Given the description of an element on the screen output the (x, y) to click on. 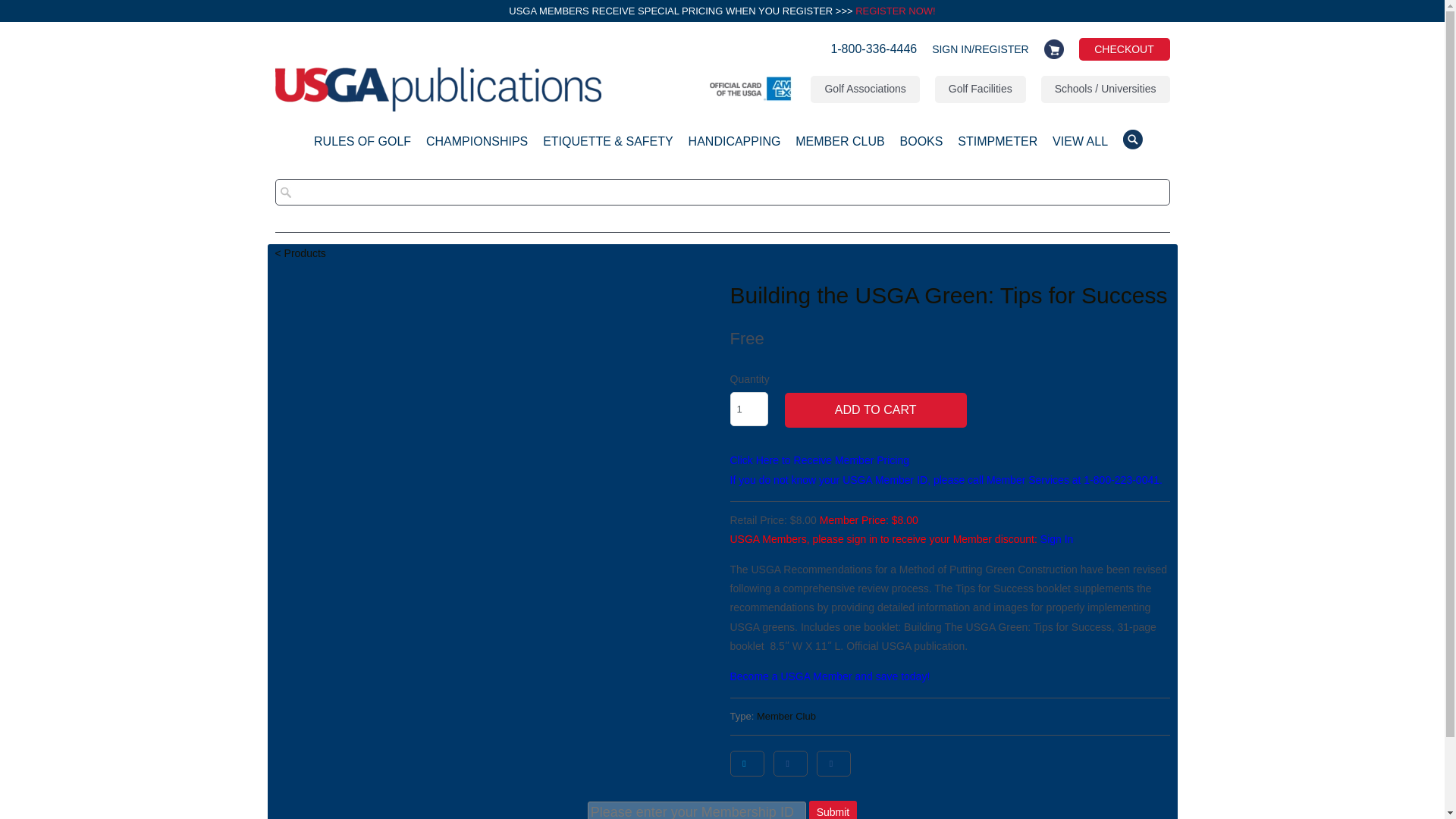
BOOKS (921, 145)
Products (299, 253)
Golf Facilities (980, 89)
Sign In (1057, 539)
VIEW ALL (1080, 145)
STIMPMETER (997, 145)
Become a USGA Member and save today! (829, 676)
ADD TO CART (875, 410)
RULES OF GOLF (362, 145)
Member Club (786, 715)
